Given the description of an element on the screen output the (x, y) to click on. 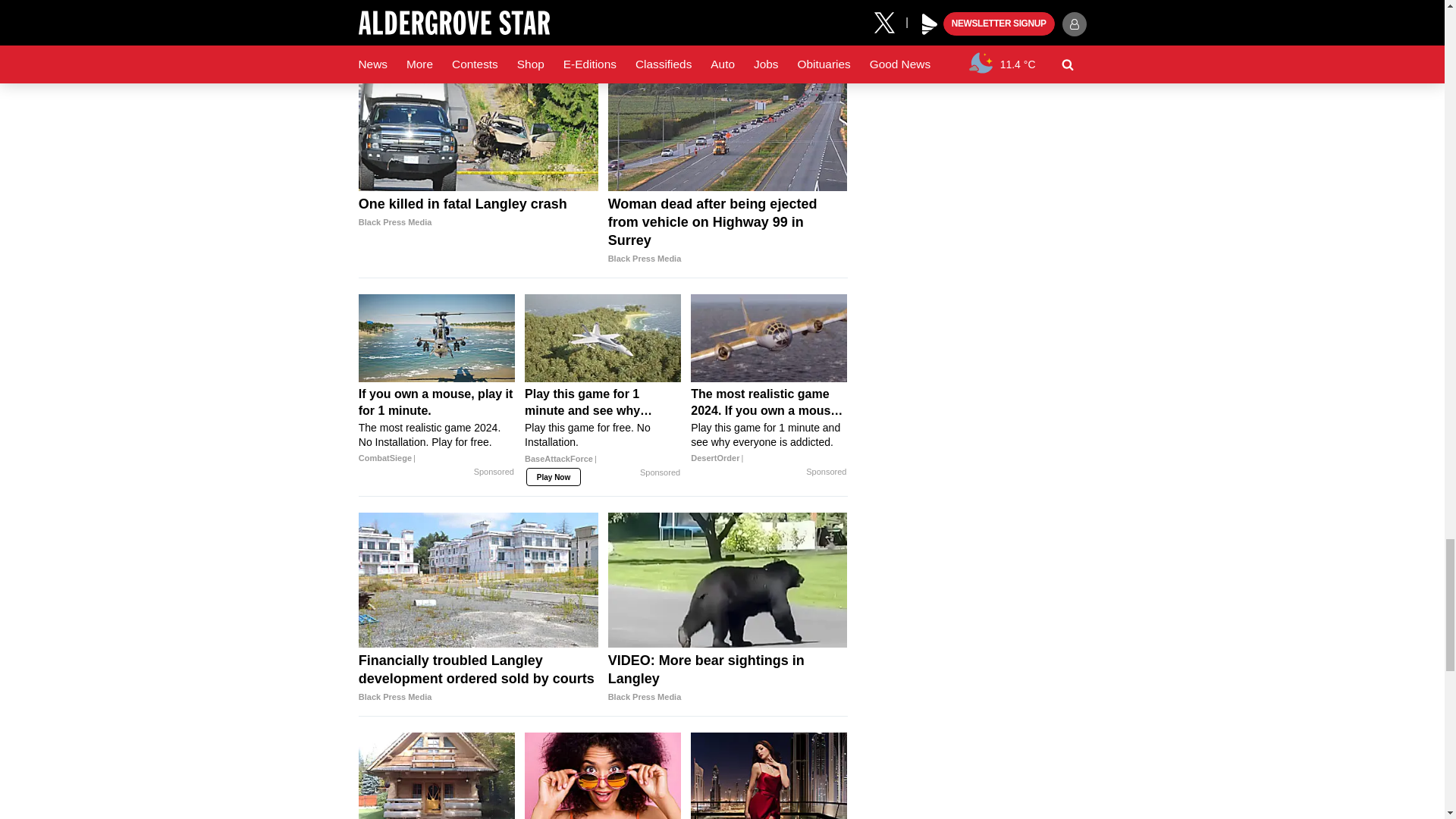
3rd party ad content (602, 15)
